Given the description of an element on the screen output the (x, y) to click on. 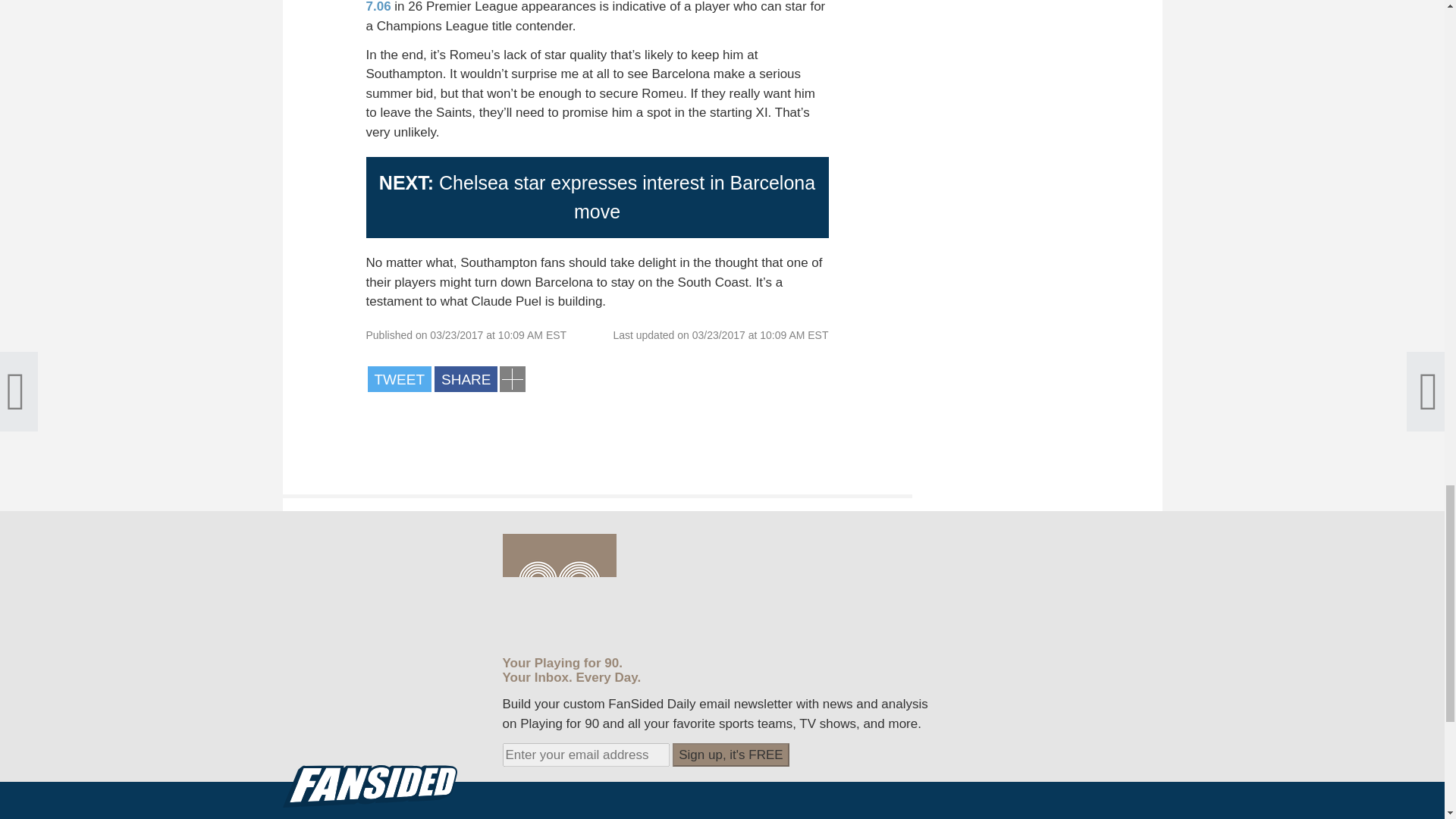
Sign up, it's FREE (730, 754)
